Given the description of an element on the screen output the (x, y) to click on. 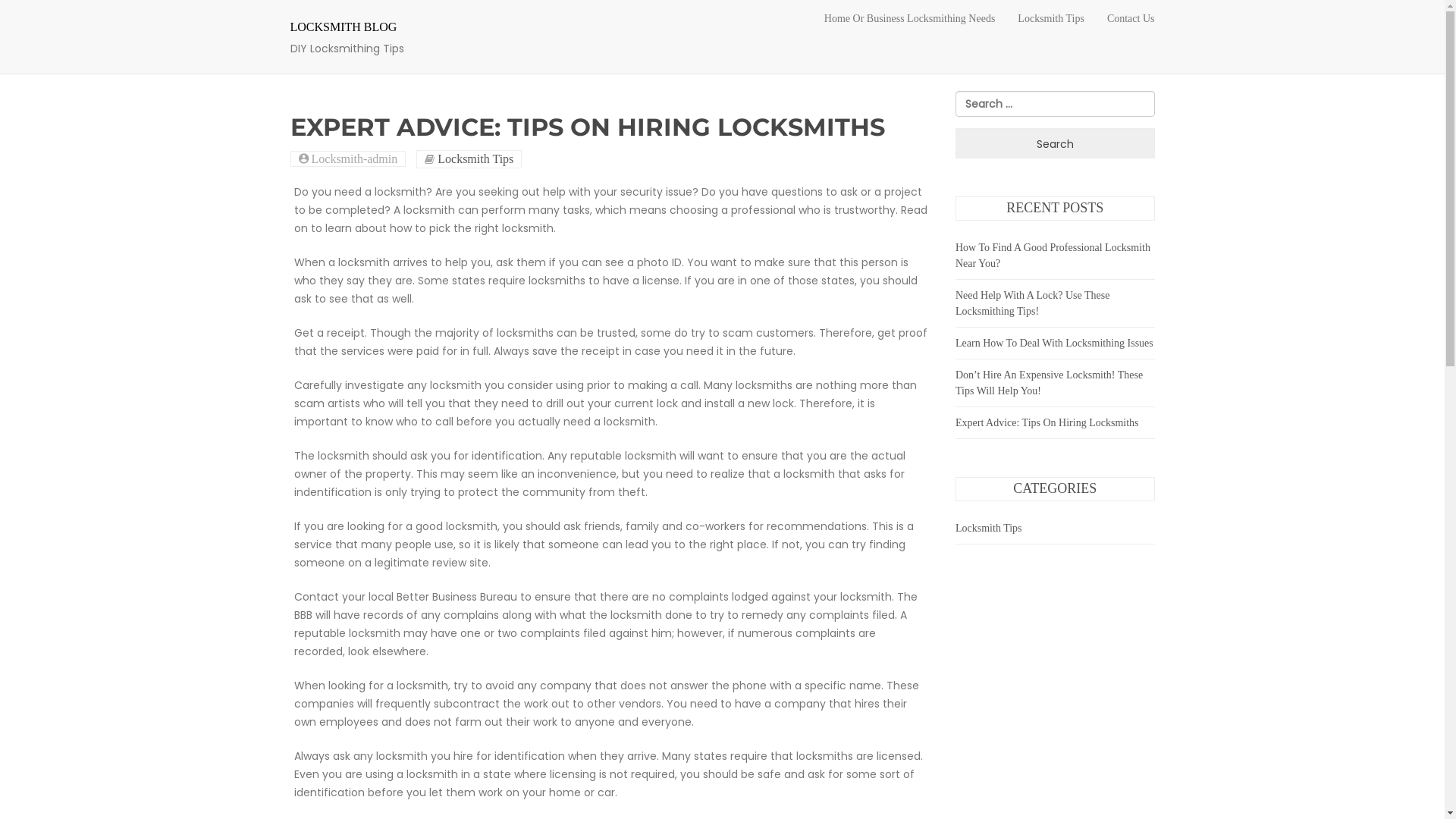
Locksmith Tips Element type: text (988, 527)
Need Help With A Lock? Use These Locksmithing Tips! Element type: text (1032, 302)
Expert Advice: Tips On Hiring Locksmiths Element type: text (1047, 422)
Locksmith Tips Element type: text (1050, 18)
LOCKSMITH BLOG Element type: text (342, 26)
Locksmith-admin Element type: text (351, 158)
Contact Us Element type: text (1130, 18)
How To Find A Good Professional Locksmith Near You? Element type: text (1052, 255)
Learn How To Deal With Locksmithing Issues Element type: text (1054, 342)
Locksmith Tips Element type: text (475, 158)
Search Element type: text (1054, 143)
Home Or Business Locksmithing Needs Element type: text (909, 18)
